Given the description of an element on the screen output the (x, y) to click on. 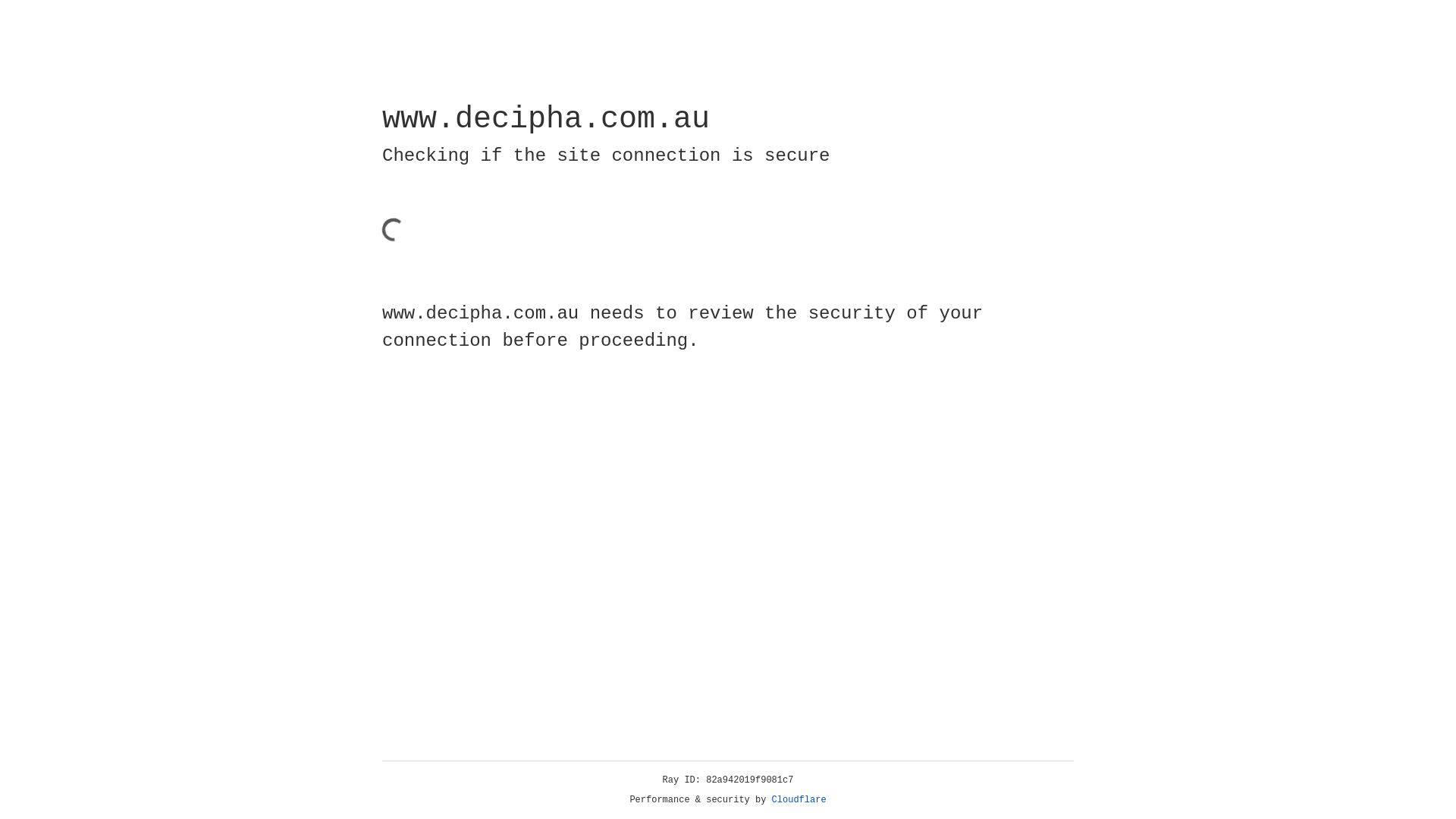
Cloudflare Element type: text (798, 799)
